Given the description of an element on the screen output the (x, y) to click on. 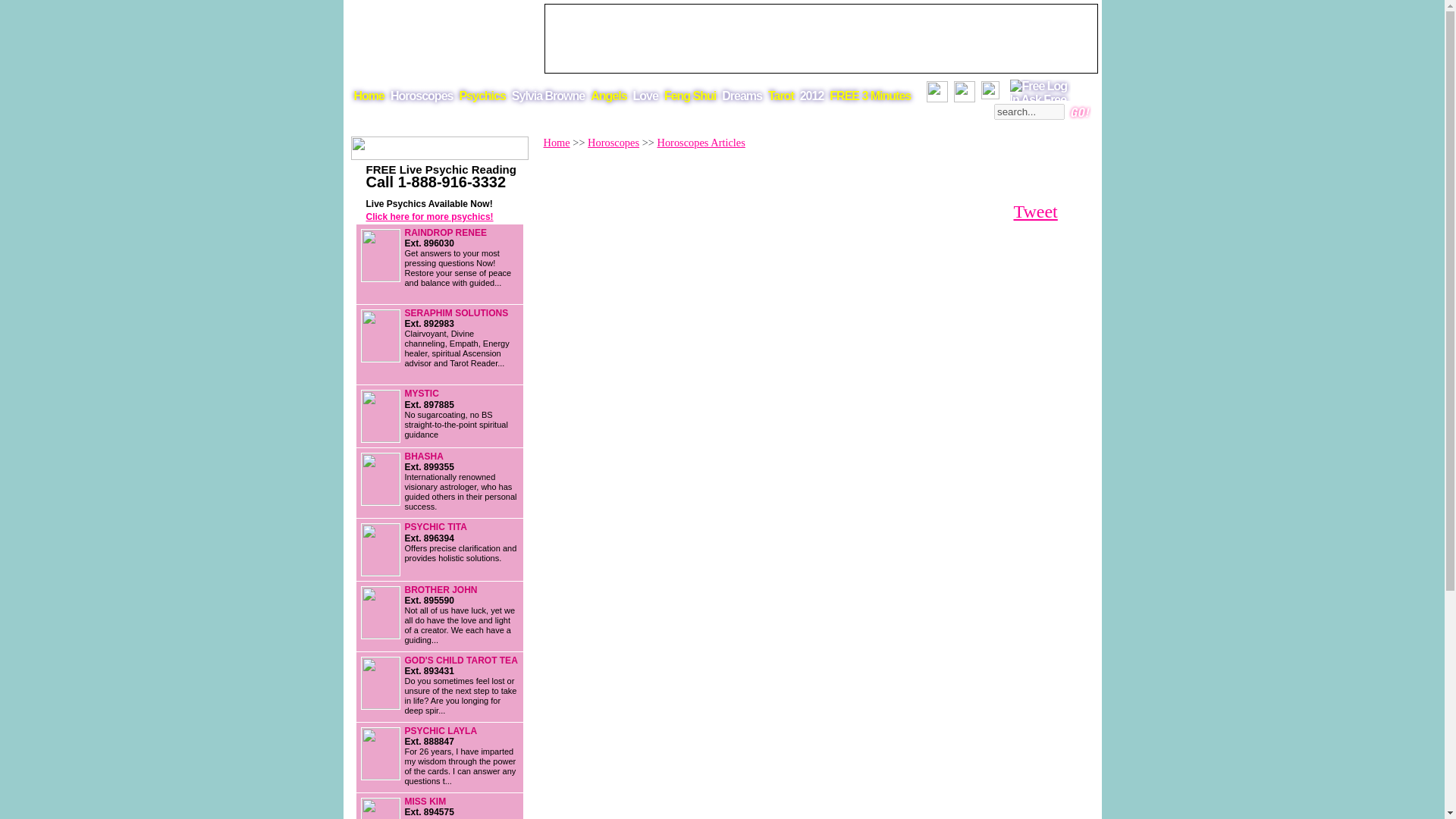
Horoscopes (613, 142)
search... (1029, 111)
Tarot (780, 99)
Feng Shui (690, 99)
Tweet (1035, 211)
Dreams (742, 99)
Home (556, 142)
Love (645, 99)
FREE 3 Minutes (870, 99)
Sylvia Browne (548, 99)
